Given the description of an element on the screen output the (x, y) to click on. 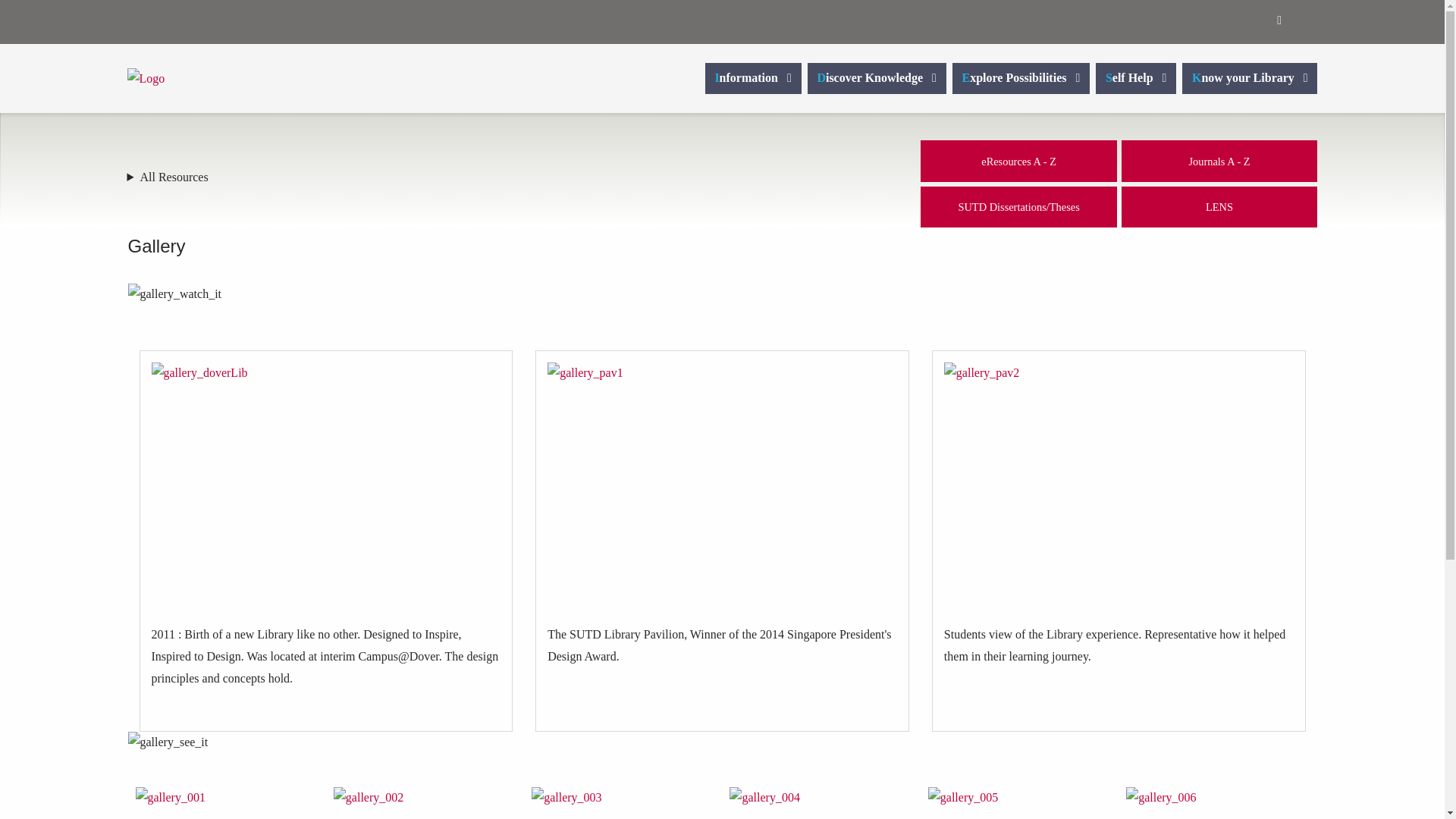
Information (756, 79)
Events (1223, 20)
Feedback (1254, 20)
University Home (1193, 20)
